Given the description of an element on the screen output the (x, y) to click on. 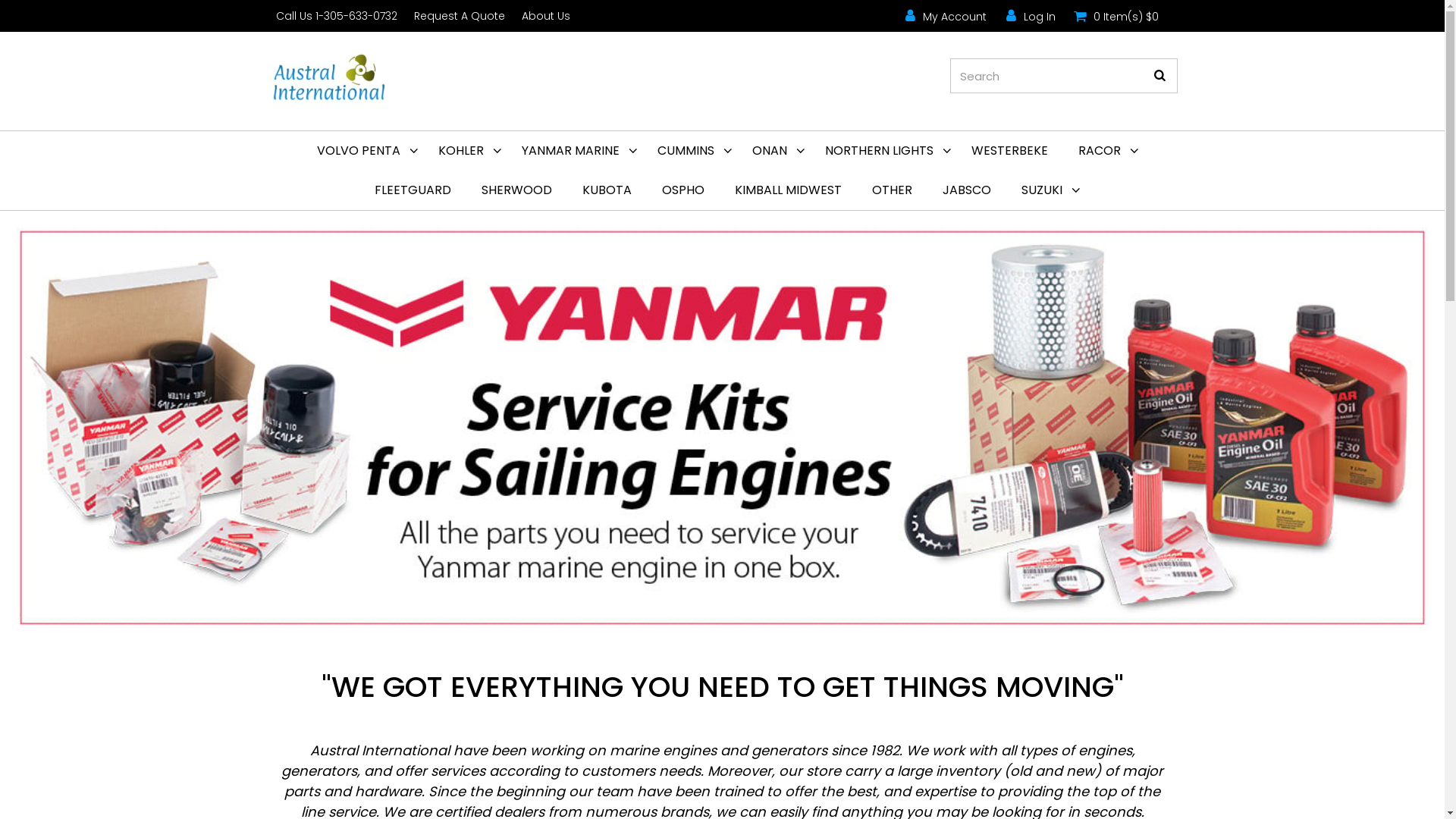
OTHER Element type: text (891, 190)
Call Us 1-305-633-0732 Element type: text (335, 15)
0 Item(s) $0
Shopping Cart Element type: text (1113, 15)
CUMMINS Element type: text (688, 150)
WESTERBEKE Element type: text (1008, 150)
ONAN Element type: text (773, 150)
NORTHERN LIGHTS Element type: text (882, 150)
RACOR Element type: text (1103, 150)
FLEETGUARD Element type: text (412, 190)
KOHLER Element type: text (464, 150)
VOLVO PENTA Element type: text (362, 150)
KIMBALL MIDWEST Element type: text (788, 190)
OSPHO Element type: text (683, 190)
My Account
My Account Element type: text (943, 15)
Log In
My Account Element type: text (1028, 15)
YANMAR MARINE Element type: text (574, 150)
Request A Quote Element type: text (458, 15)
KUBOTA Element type: text (606, 190)
JABSCO Element type: text (966, 190)
SHERWOOD Element type: text (516, 190)
SUZUKI Element type: text (1045, 190)
About Us Element type: text (544, 15)
